Given the description of an element on the screen output the (x, y) to click on. 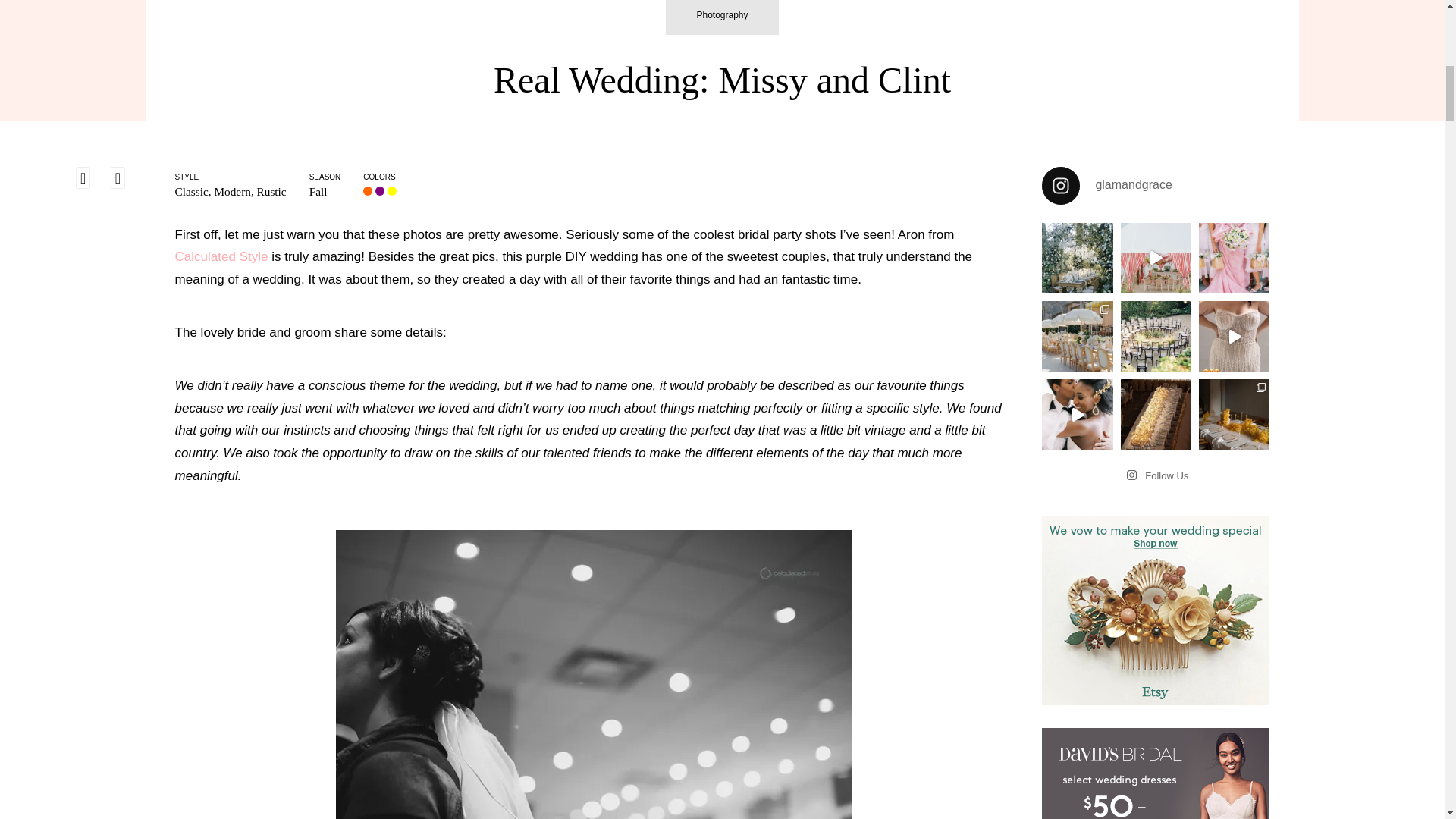
Purple (381, 191)
Calculated Style (220, 256)
Fall (317, 191)
Yellow (392, 191)
Orange (368, 191)
Rustic (271, 191)
Photography (721, 17)
Classic (191, 191)
Modern (232, 191)
